Given the description of an element on the screen output the (x, y) to click on. 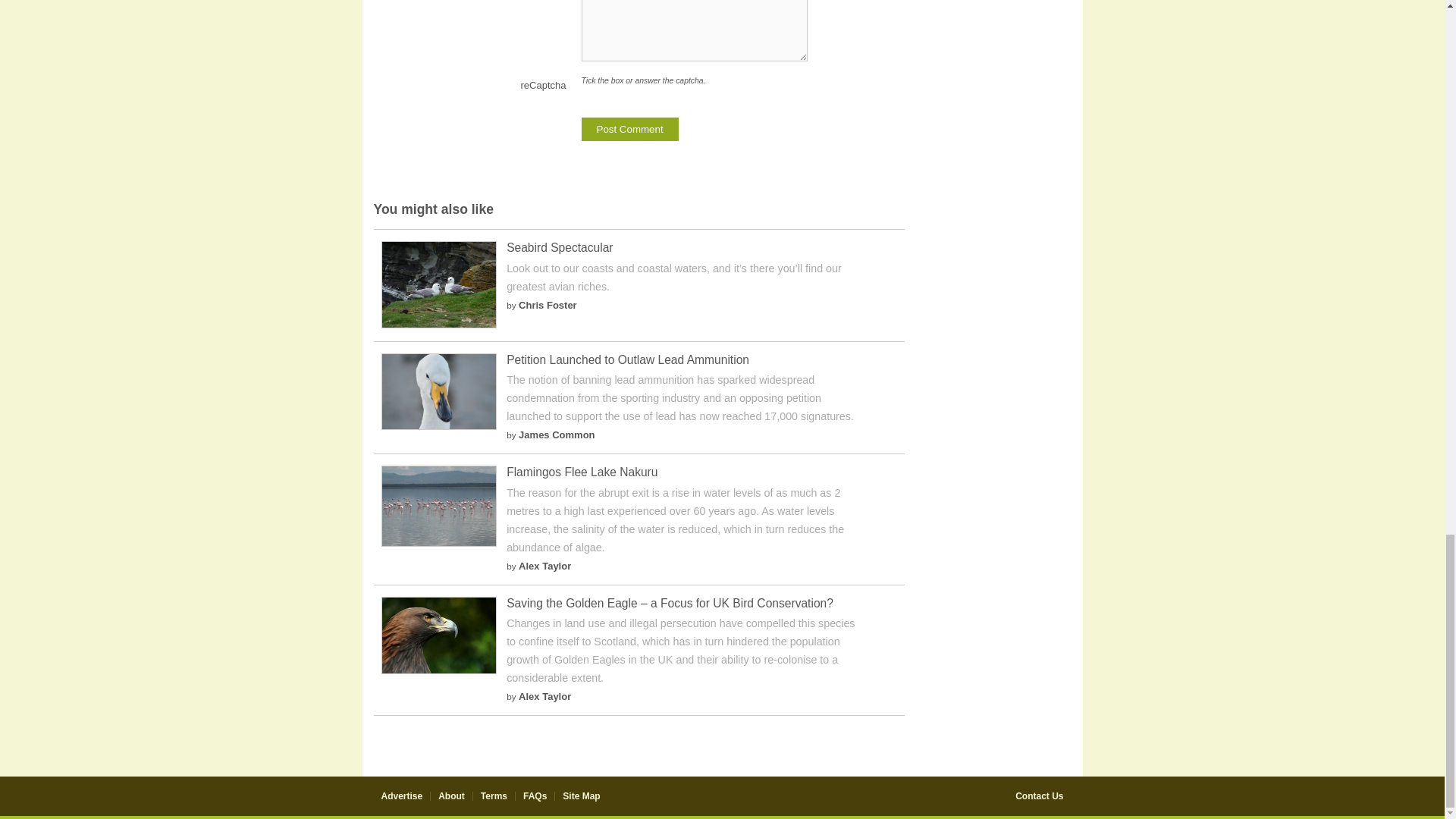
Contact Us (1038, 796)
Flamingos Flee Lake Nakuru (438, 542)
Advertise (401, 796)
Petition Launched to Outlaw Lead Ammunition (627, 358)
Petition Launched to Outlaw Lead Ammunition (627, 358)
Petition Launched to Outlaw Lead Ammunition (438, 426)
About Us (451, 796)
Site Map (580, 796)
Terms (493, 796)
Seabird Spectacular (559, 246)
